Given the description of an element on the screen output the (x, y) to click on. 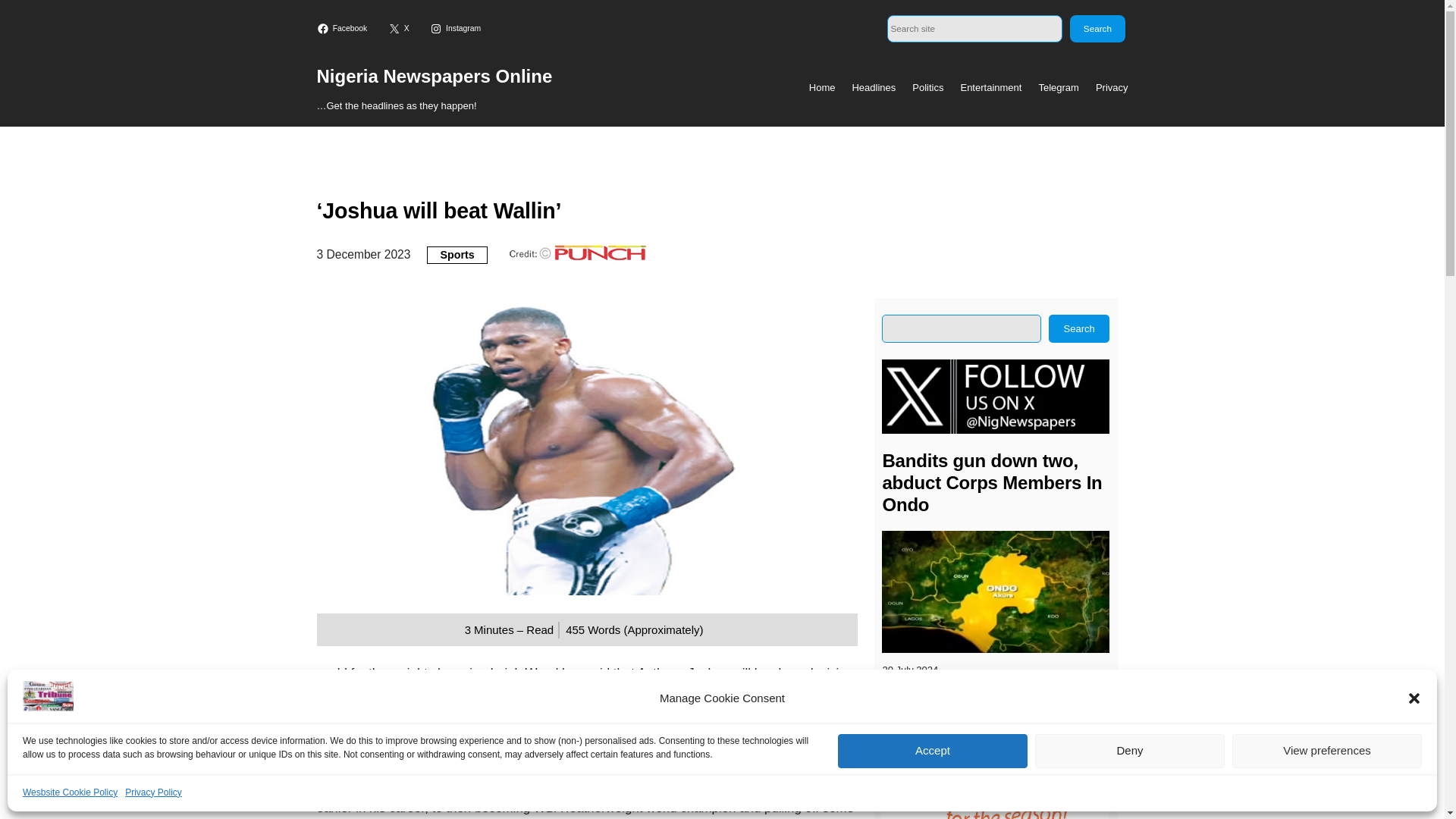
Search (1097, 28)
Privacy (1112, 88)
X (400, 28)
joshua will beat wallin - nigeria newspapers online (48, 695)
Home (822, 88)
Politics (927, 88)
Privacy Policy (153, 792)
Telegram (1058, 88)
Accept (932, 750)
Instagram (456, 28)
Deny (1129, 750)
Sports (456, 254)
Entertainment (990, 88)
Facebook (344, 28)
